Given the description of an element on the screen output the (x, y) to click on. 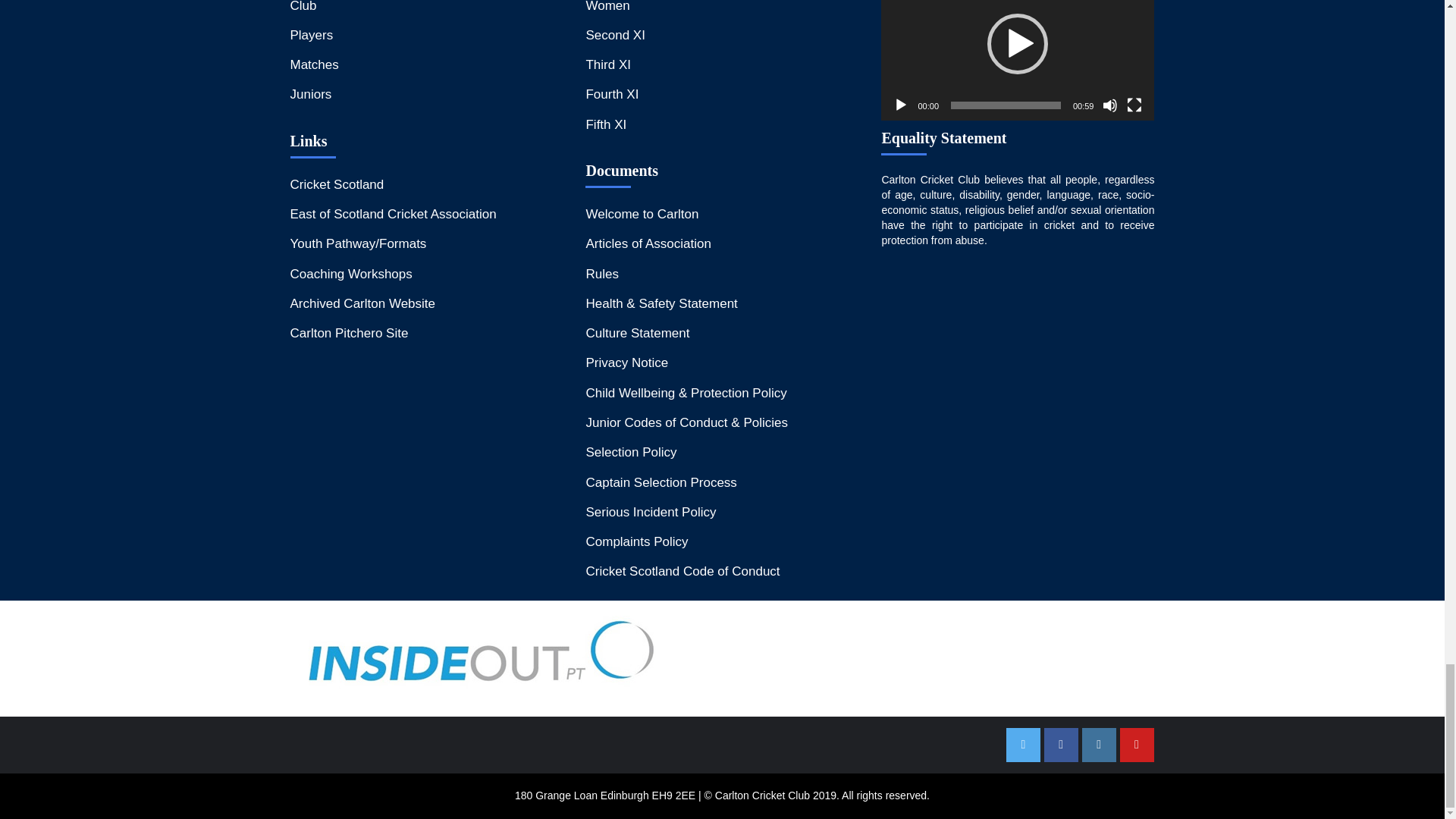
Play (900, 105)
Mute (1110, 105)
Fullscreen (1133, 105)
